Given the description of an element on the screen output the (x, y) to click on. 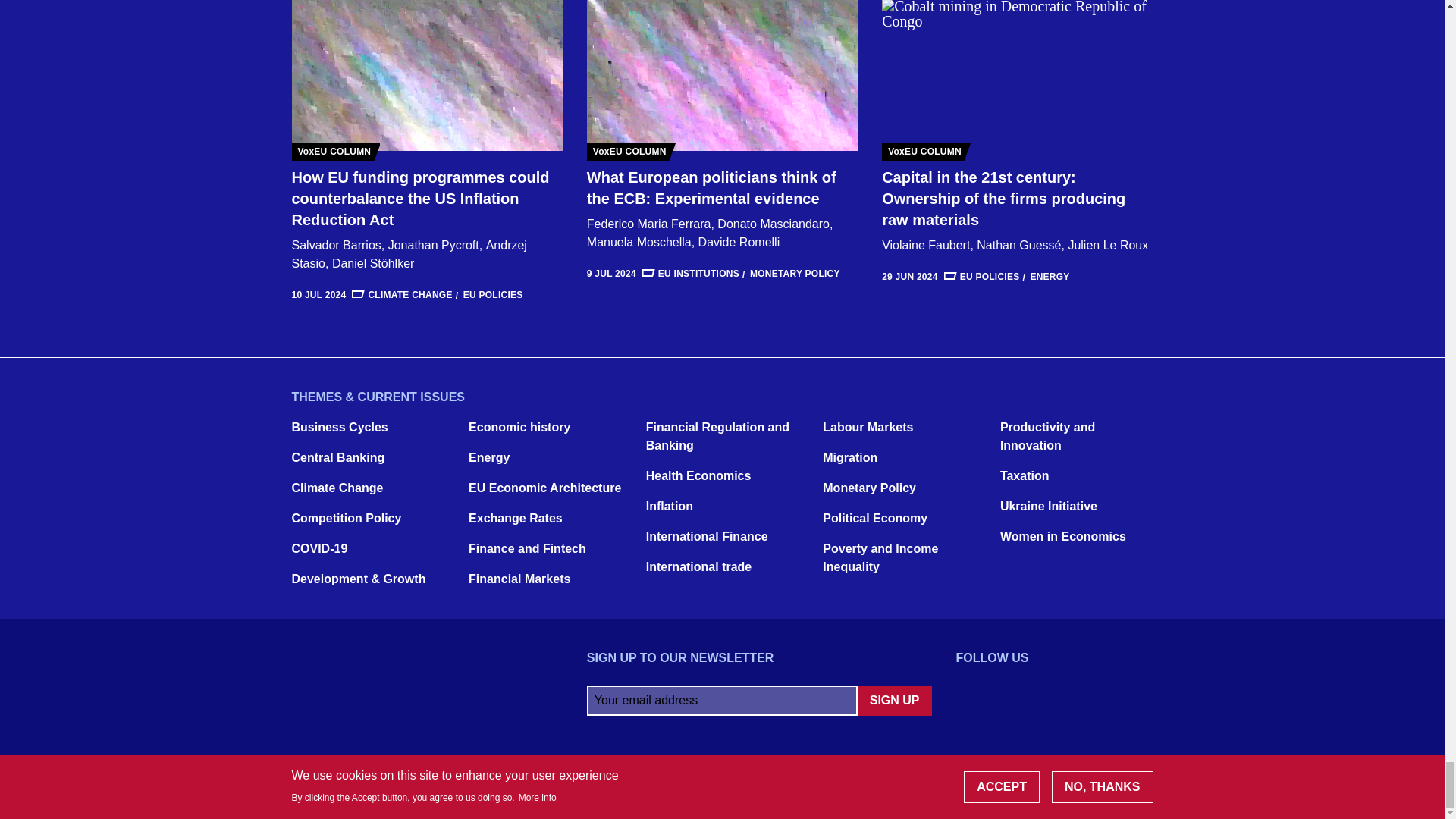
sign up (894, 700)
